Given the description of an element on the screen output the (x, y) to click on. 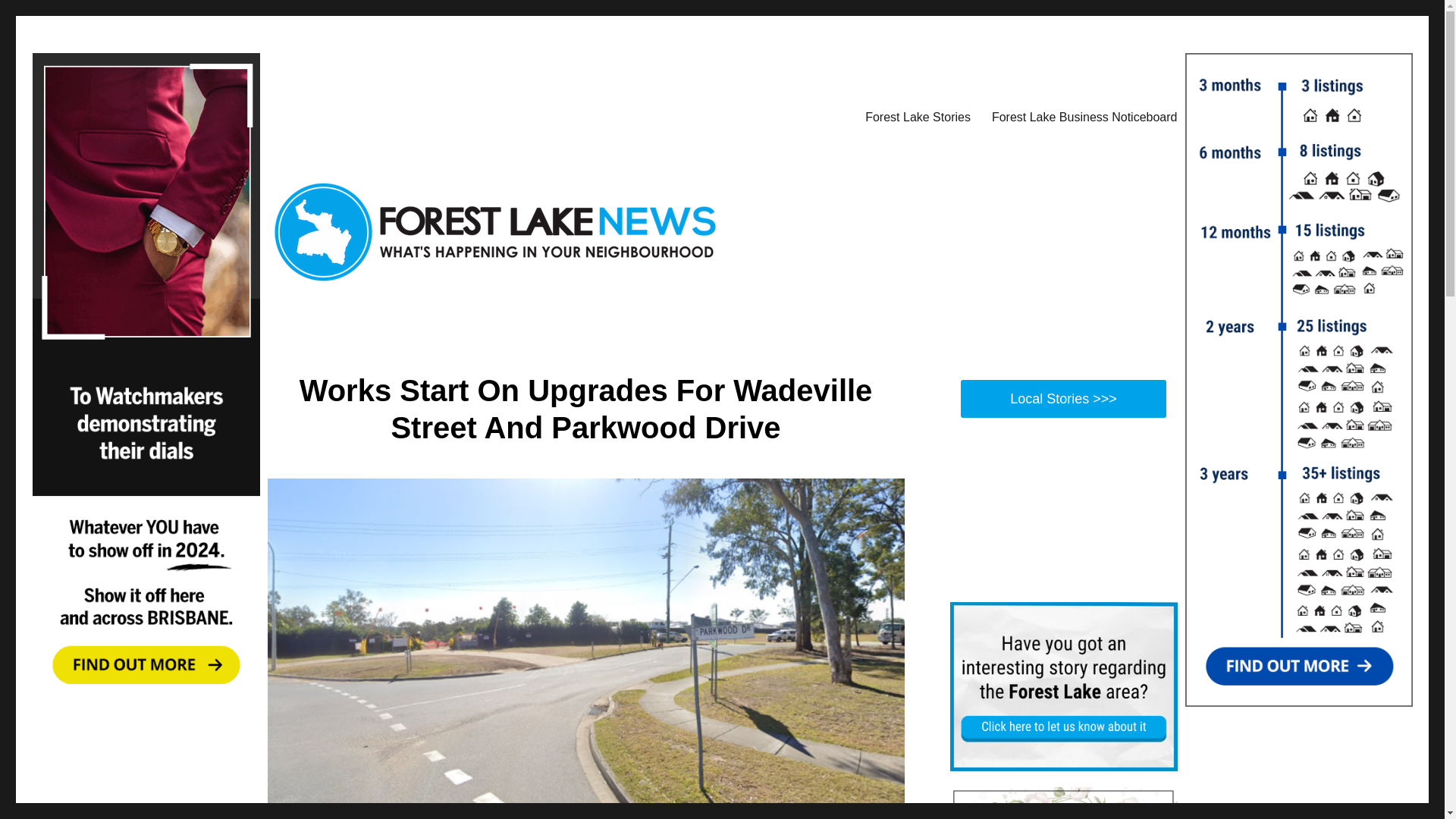
Forest Lake Stories (917, 116)
Forest Lake Business Noticeboard (1084, 116)
Forest Lake News (356, 114)
